Given the description of an element on the screen output the (x, y) to click on. 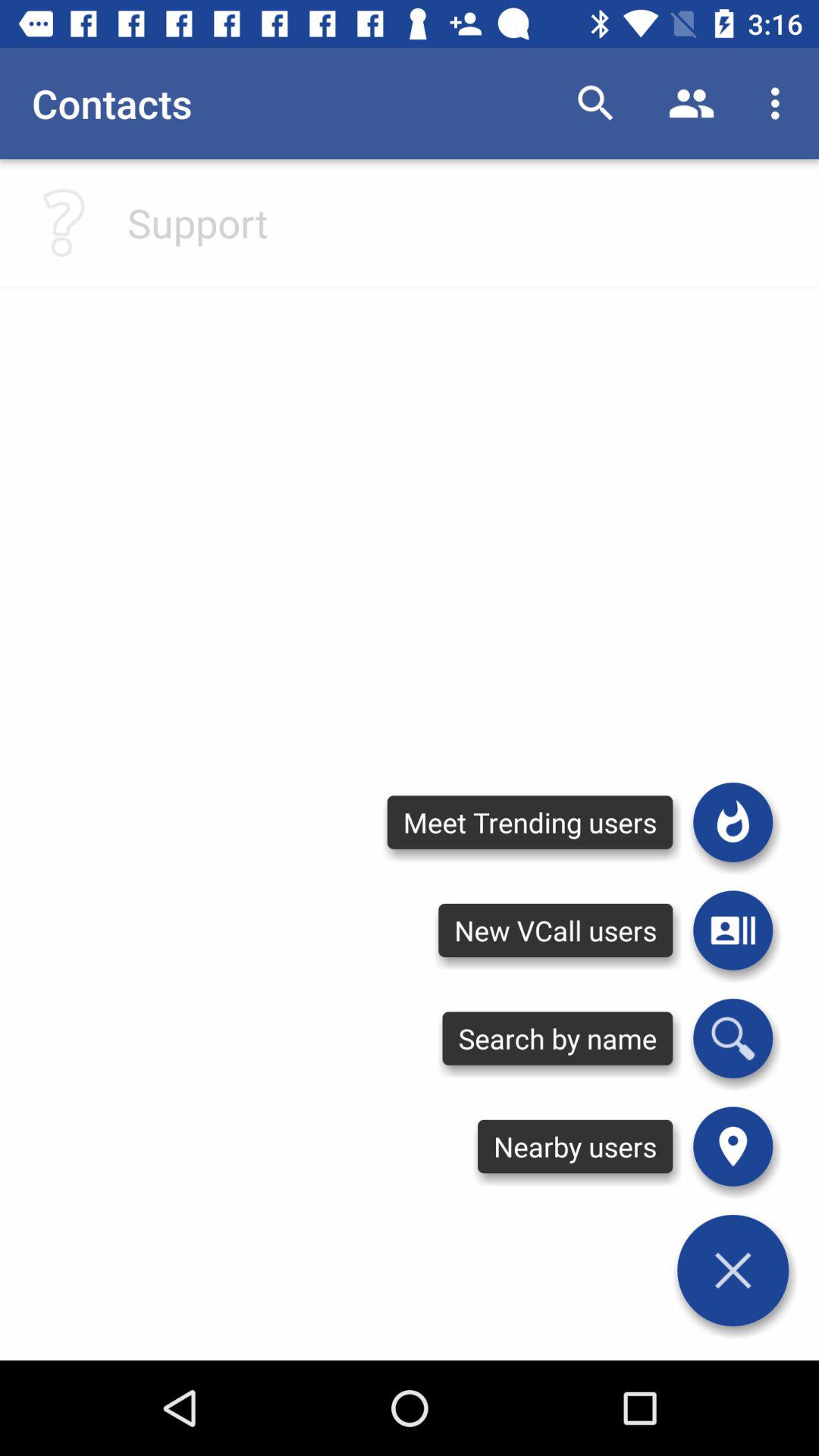
view trending users (733, 822)
